Given the description of an element on the screen output the (x, y) to click on. 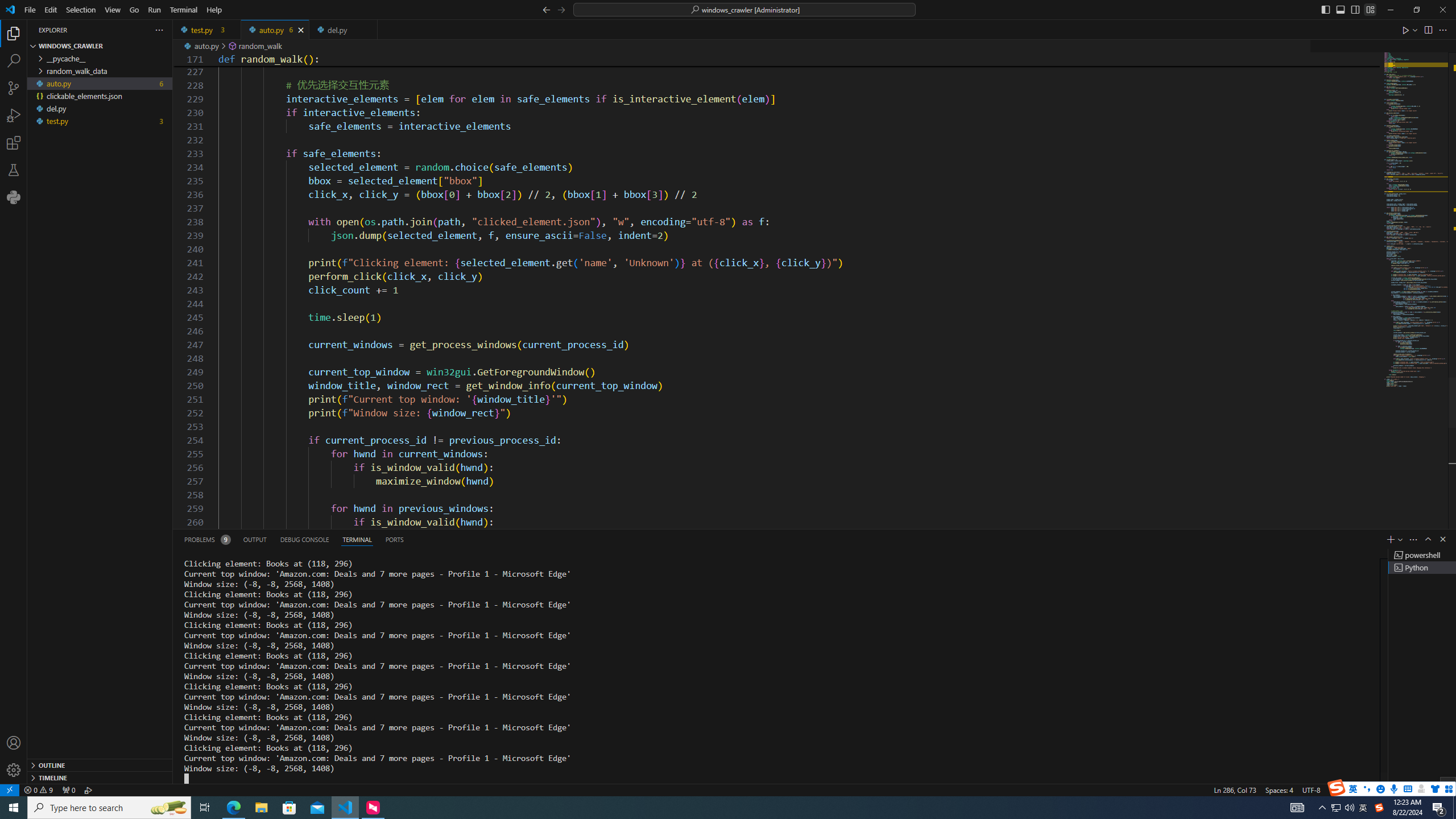
Spaces: 4 (1278, 789)
Split Editor Right (Ctrl+\) [Alt] Split Editor Down (1428, 29)
File (30, 9)
remote (9, 789)
Ports actions (917, 539)
Close (1442, 9)
Manage (13, 769)
Selection (80, 9)
Go Back (Alt+LeftArrow) (546, 9)
Toggle Primary Side Bar (Ctrl+B) (1325, 9)
Problems (Ctrl+Shift+M) - Total 9 Problems (206, 539)
Python (13, 197)
Python (1373, 789)
